Given the description of an element on the screen output the (x, y) to click on. 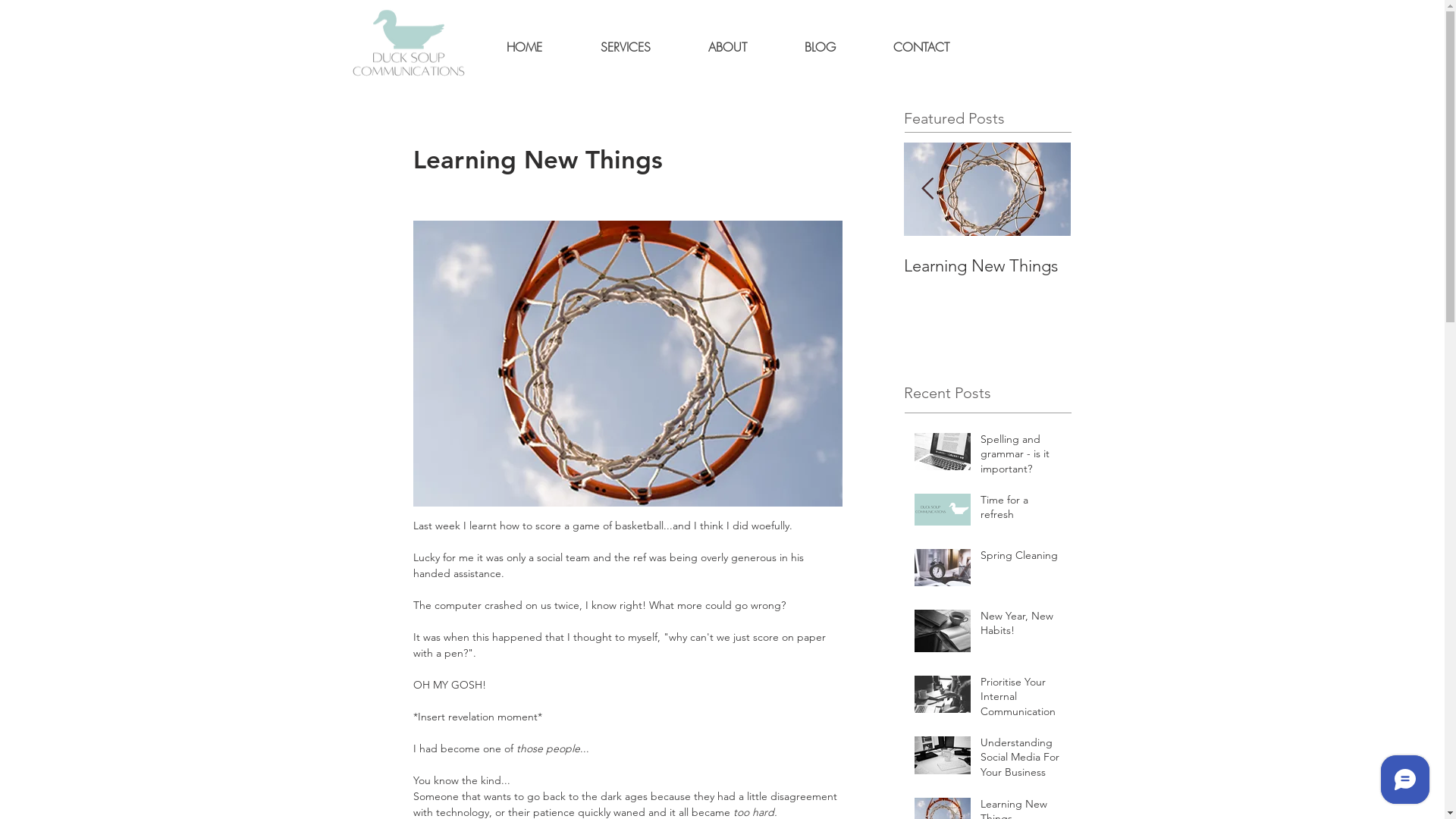
New Year, New Habits! Element type: text (486, 265)
Learning New Things Element type: text (986, 265)
Time for a refresh Element type: text (152, 265)
Understanding Social Media For Your Business Element type: text (1020, 760)
Spring Cleaning Element type: text (1020, 558)
ABOUT Element type: text (727, 47)
CONTACT Element type: text (921, 47)
Understanding Social Media For Your Business Element type: text (820, 285)
Time for a refresh Element type: text (1020, 510)
SERVICES Element type: text (625, 47)
Spring Cleaning Element type: text (319, 265)
Spelling and grammar - is it important? Element type: text (1020, 457)
HOME Element type: text (524, 47)
BLOG Element type: text (819, 47)
Prioritise Your Internal Communication Element type: text (1020, 699)
Prioritise Your Internal Communication Element type: text (653, 275)
New Year, New Habits! Element type: text (1020, 626)
